Given the description of an element on the screen output the (x, y) to click on. 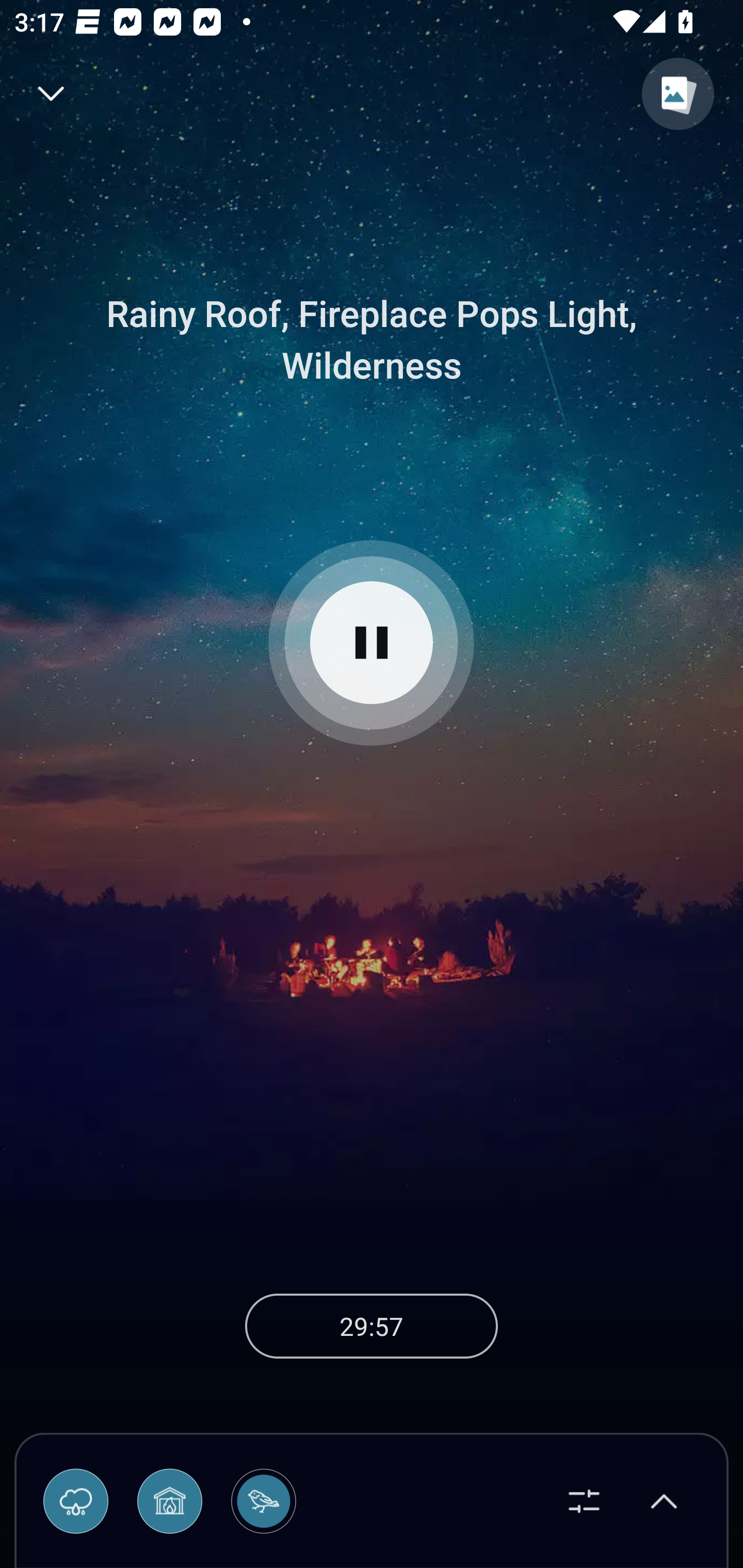
29:57 (371, 1325)
